Given the description of an element on the screen output the (x, y) to click on. 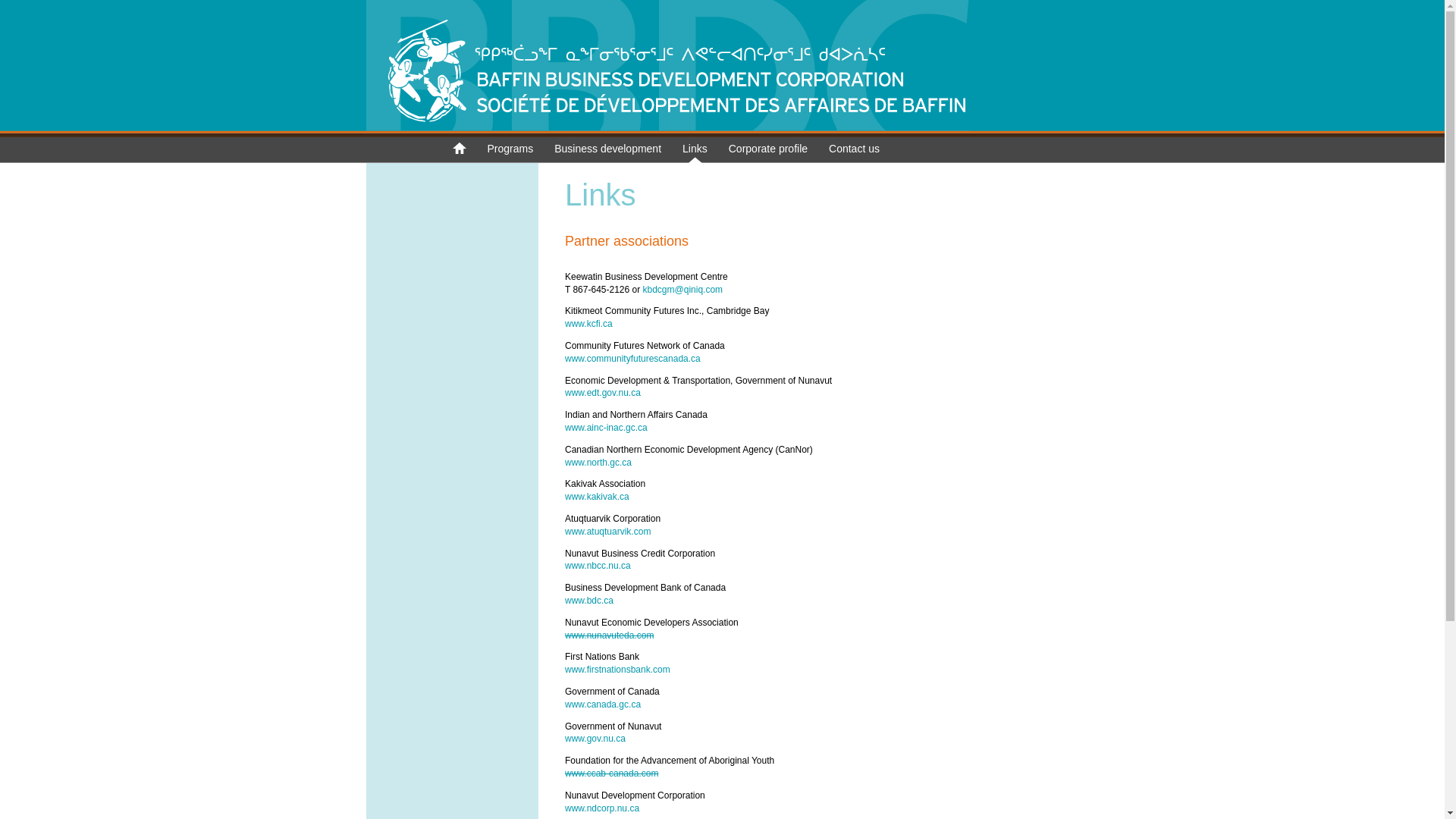
www.kakivak.ca Element type: text (596, 496)
Business development Element type: text (607, 152)
www.atuqtuarvik.com Element type: text (607, 531)
www.communityfuturescanada.ca Element type: text (632, 358)
Contact us Element type: text (853, 152)
www.ndcorp.nu.ca Element type: text (601, 807)
www.canada.gc.ca Element type: text (602, 704)
www.nbcc.nu.ca Element type: text (597, 565)
www.nunavuteda.com Element type: text (608, 635)
www.firstnationsbank.com Element type: text (617, 669)
Home Element type: hover (666, 127)
www.edt.gov.nu.ca Element type: text (602, 392)
Programs Element type: text (509, 152)
www.ccab-canada.com Element type: text (611, 773)
www.kcfi.ca Element type: text (588, 323)
www.ainc-inac.gc.ca Element type: text (605, 427)
www.north.gc.ca Element type: text (597, 462)
Corporate profile Element type: text (767, 152)
home Element type: hover (458, 154)
www.bdc.ca Element type: text (588, 600)
kbdcgm@qiniq.com Element type: text (683, 289)
www.gov.nu.ca Element type: text (594, 738)
Links Element type: text (694, 152)
